Given the description of an element on the screen output the (x, y) to click on. 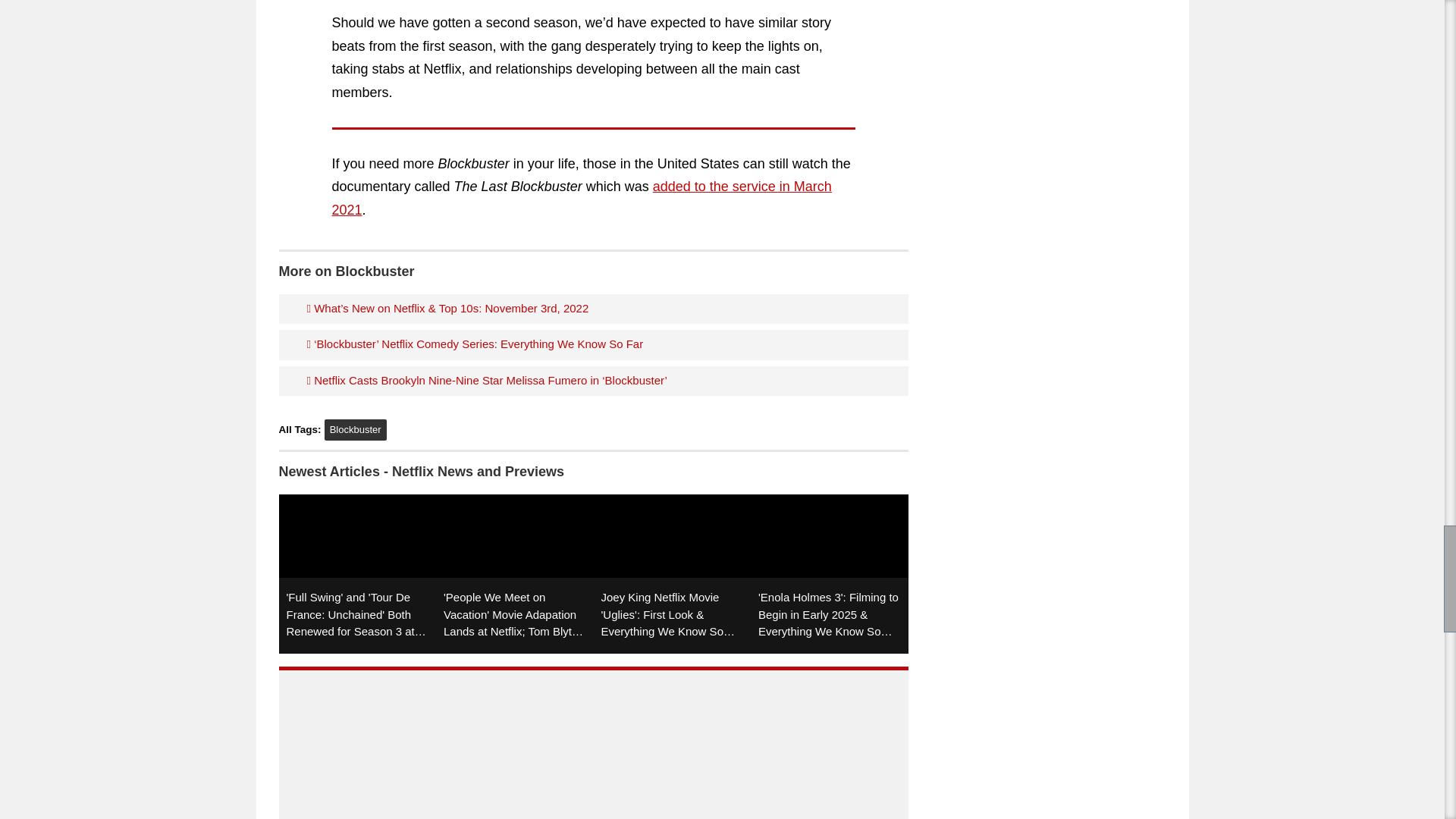
added to the service in March 2021 (581, 198)
Blockbuster (355, 430)
